Given the description of an element on the screen output the (x, y) to click on. 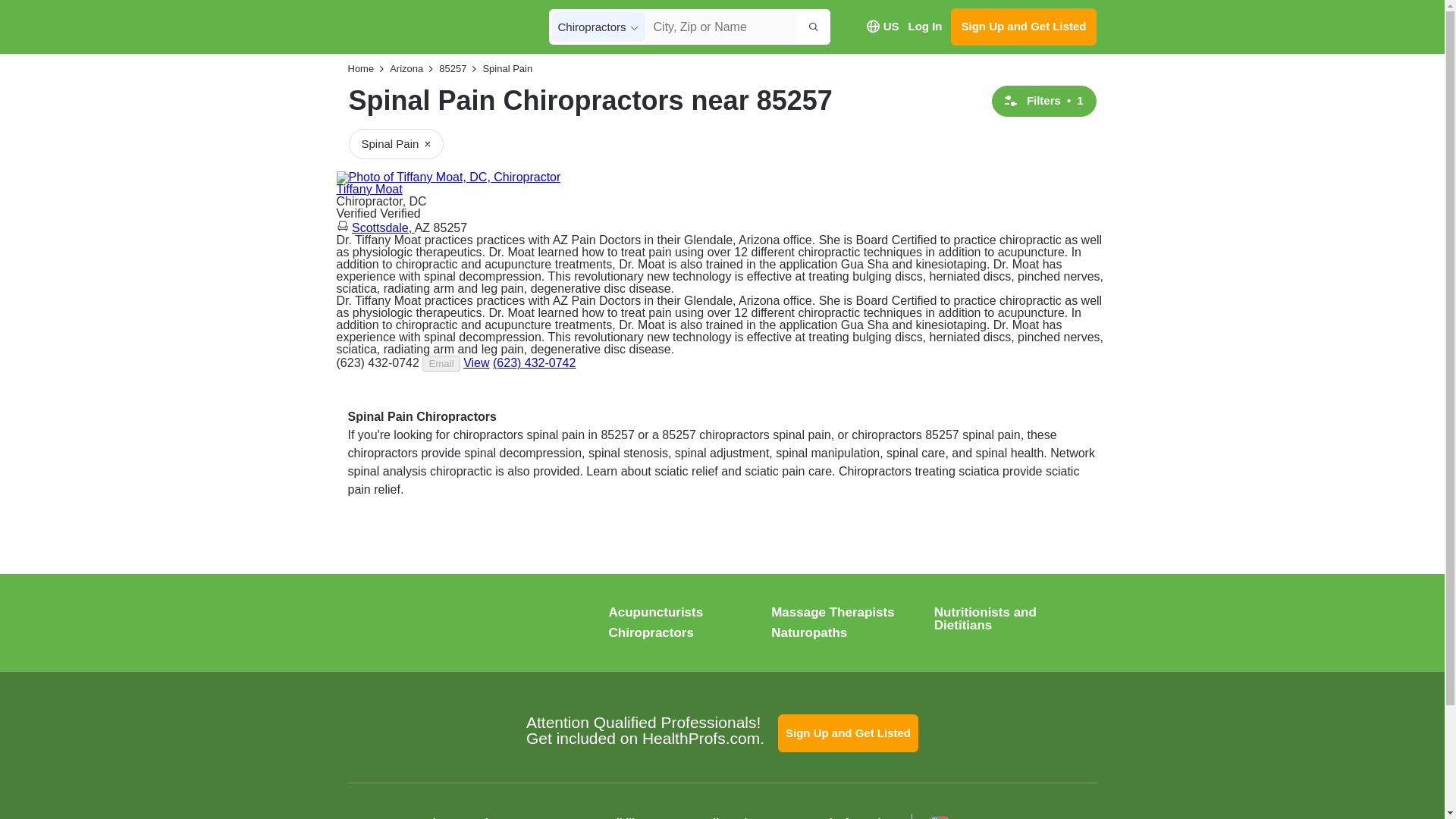
Search (812, 27)
Start a new search for Chiropractors (360, 68)
Scottsdale,  (383, 227)
See full profile of Tiffany Moat, Scottsdale, Chiropractor (476, 362)
Tiffany Moat (369, 188)
Email (441, 363)
HealthProfs.com (430, 26)
Send email to Tiffany Moat (441, 363)
Home (360, 68)
View (476, 362)
Accessibility (612, 817)
HealthProfs.com (440, 625)
Chiropractors in Arizona (398, 68)
 Chiropractors in Scottsdale (383, 227)
